Given the description of an element on the screen output the (x, y) to click on. 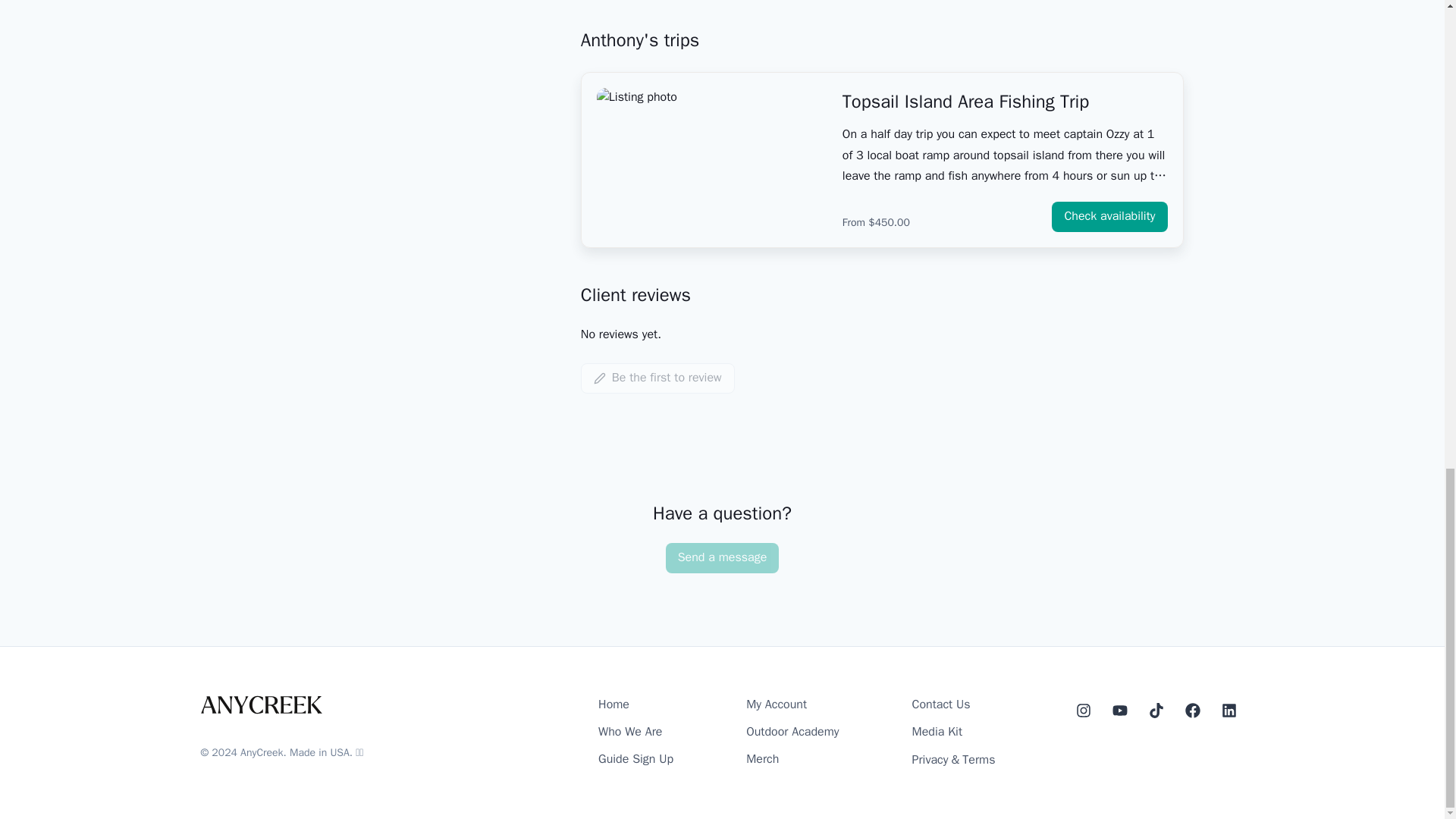
Terms (978, 760)
Contact Us (941, 704)
Media Kit (937, 731)
Send a message (721, 557)
Check availability (1109, 216)
Who We Are (630, 731)
Home (613, 704)
Merch (761, 759)
My Account (775, 704)
Topsail Island Area Fishing Trip (1005, 101)
Privacy (930, 760)
Be the first to review (657, 378)
Outdoor Academy (791, 731)
Guide Sign Up (635, 759)
